Given the description of an element on the screen output the (x, y) to click on. 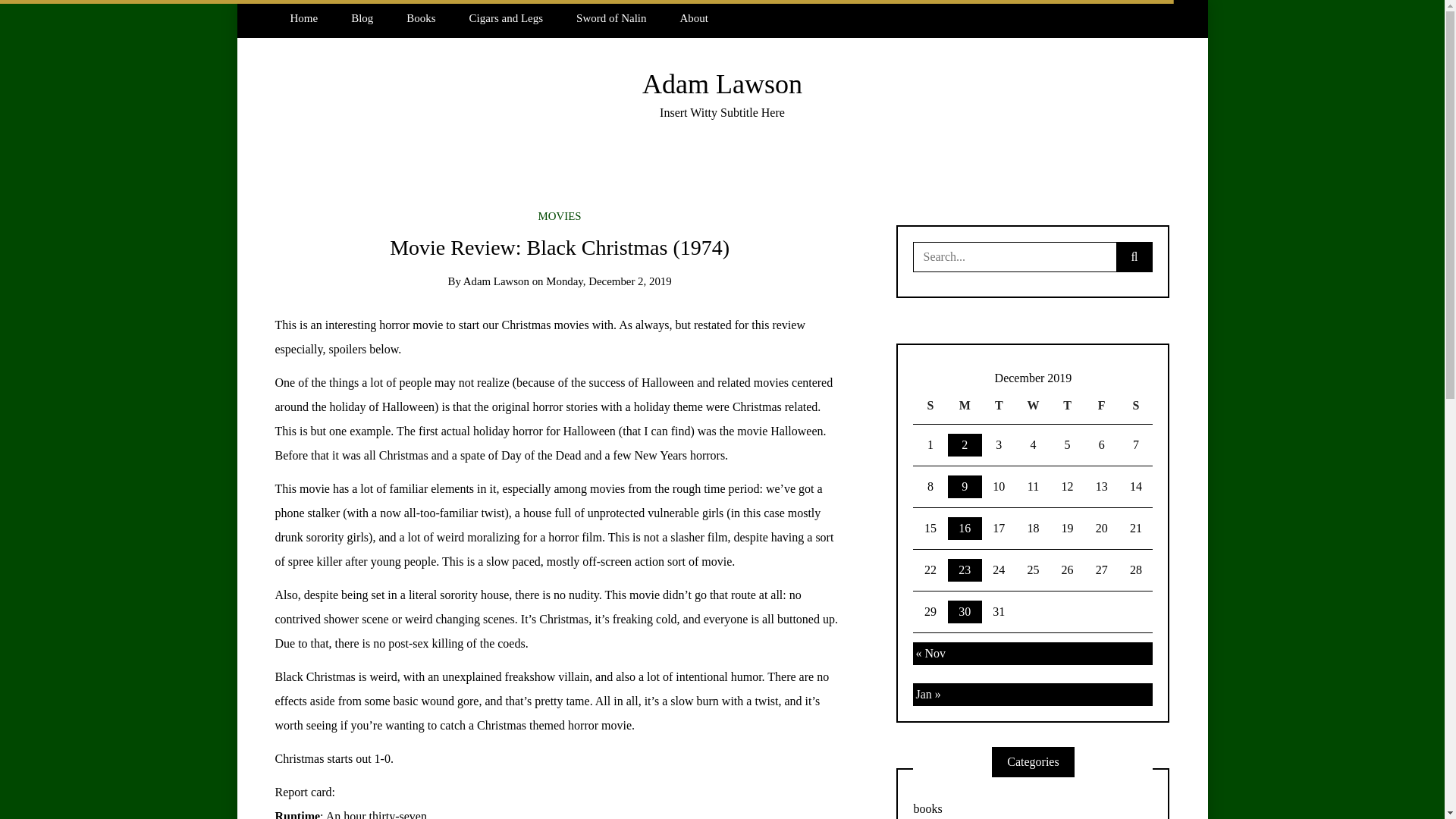
23 (964, 569)
30 (964, 611)
2 (964, 445)
Sword of Nalin (610, 18)
Thursday (1066, 406)
Monday, December 2, 2019 (608, 281)
Sunday (929, 406)
Wednesday (1032, 406)
MOVIES (559, 215)
16 (964, 527)
